Given the description of an element on the screen output the (x, y) to click on. 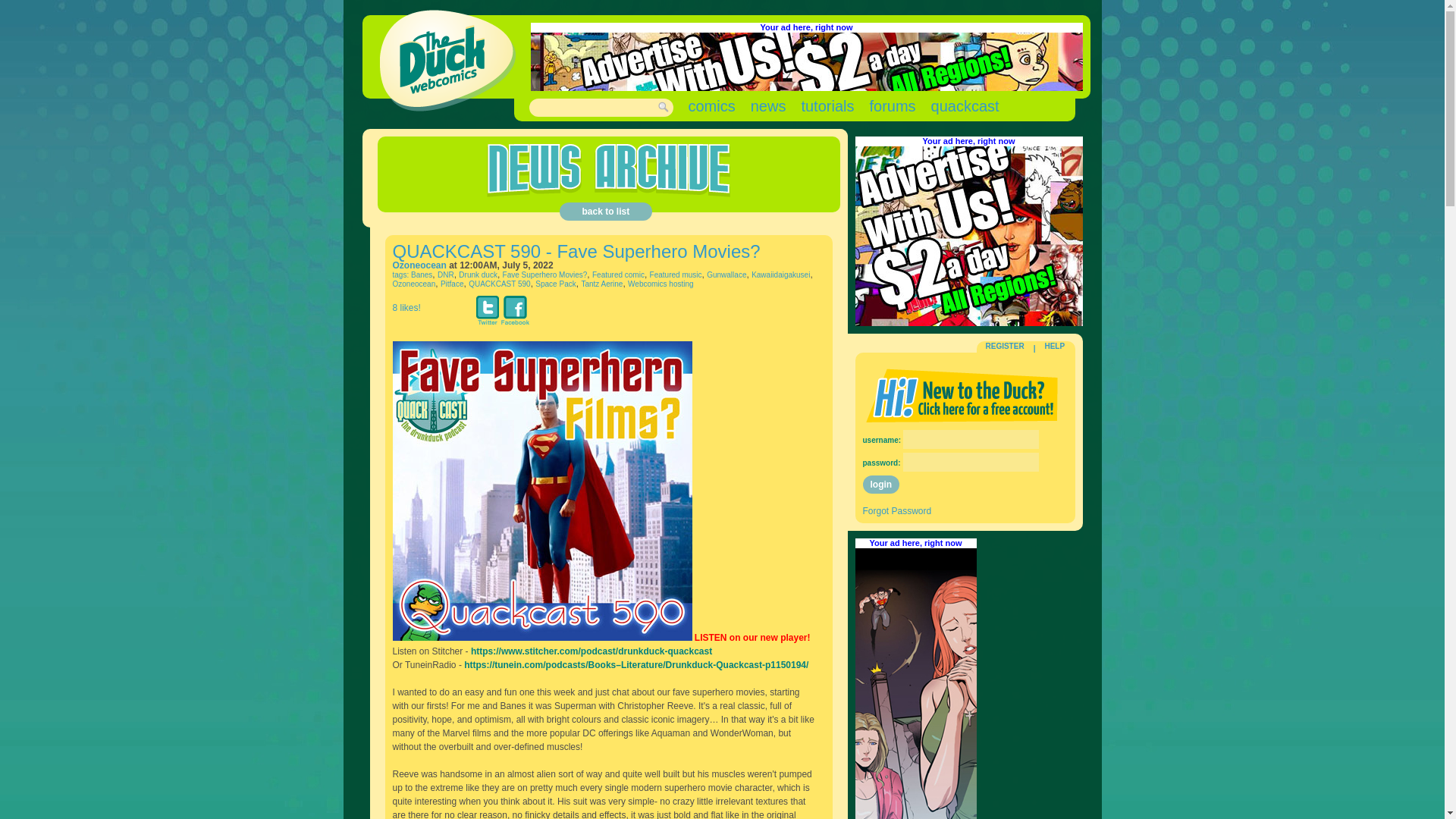
Pitface (452, 284)
Your ad here, right now (805, 26)
Kawaiidaigakusei (780, 275)
Ozoneocean (419, 265)
QUACKCAST 590 (499, 284)
news (768, 105)
forums (892, 105)
back to list (605, 211)
Space Pack (555, 284)
LISTEN on our new player! (752, 637)
Drunk duck (477, 275)
Ozoneocean (414, 284)
login (881, 484)
Banes (421, 275)
tutorials (826, 105)
